Given the description of an element on the screen output the (x, y) to click on. 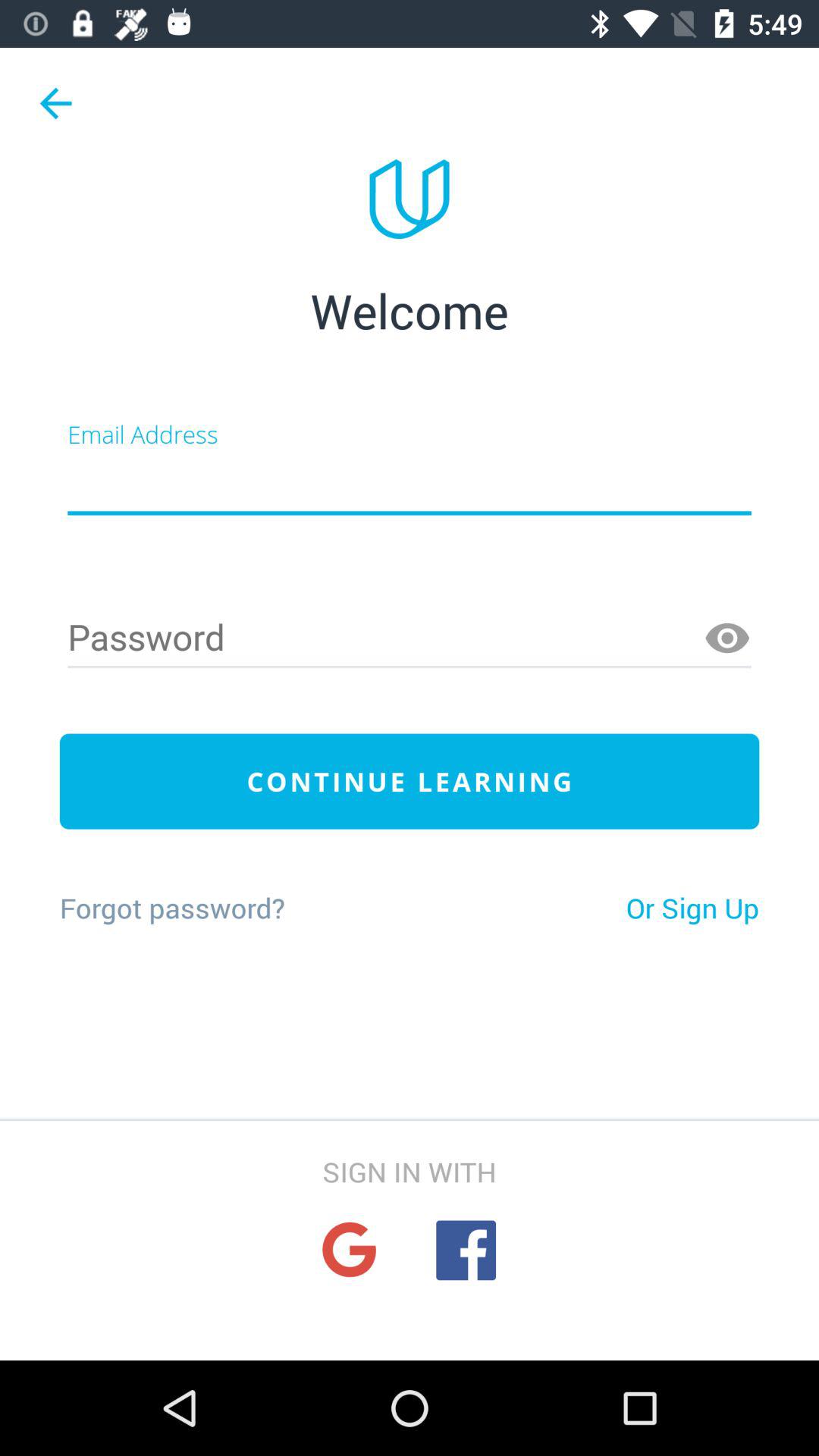
sign in with facebook (465, 1250)
